Given the description of an element on the screen output the (x, y) to click on. 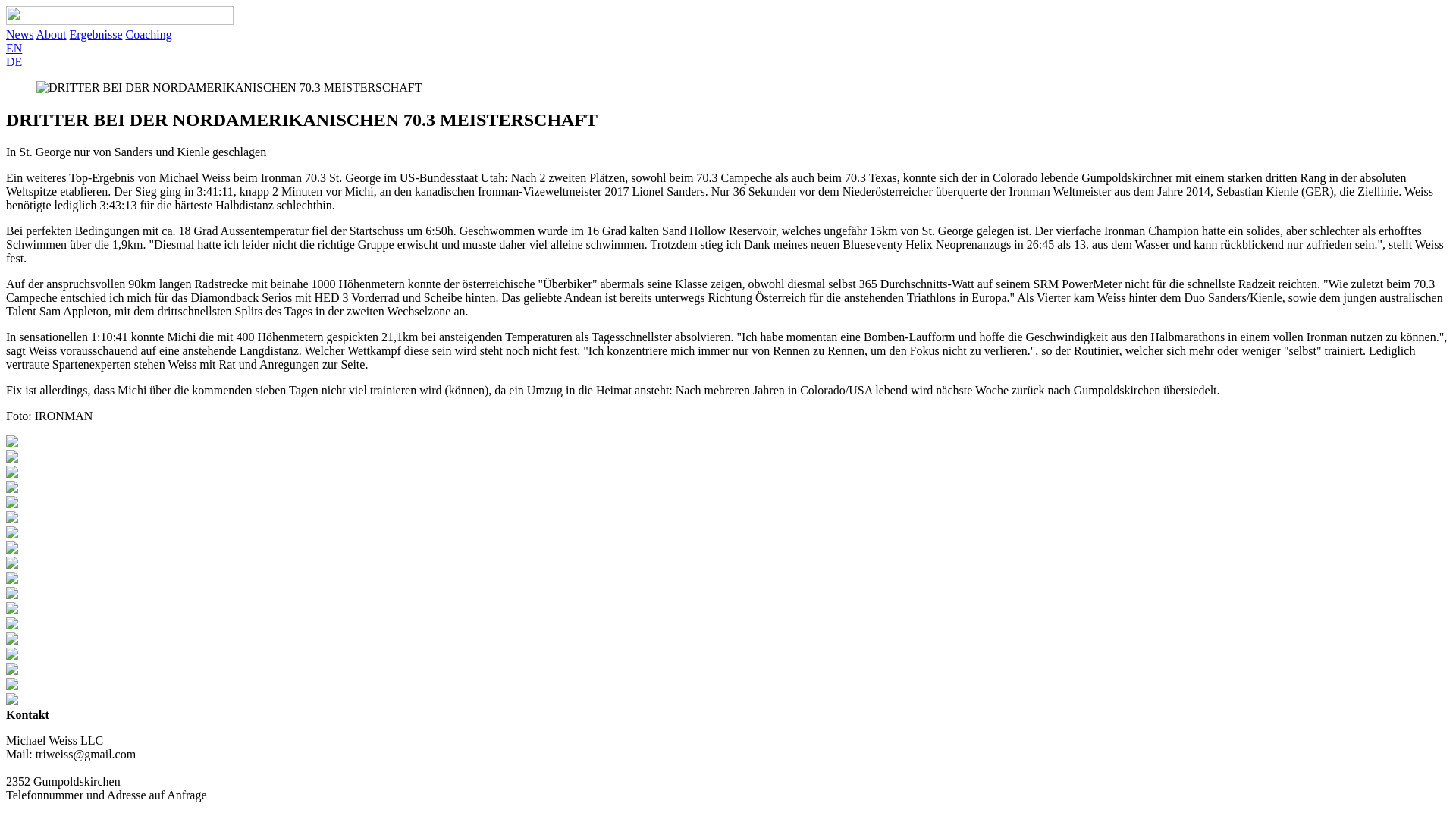
About Element type: text (51, 34)
News Element type: text (19, 34)
DE Element type: text (13, 61)
Ergebnisse Element type: text (95, 34)
EN Element type: text (13, 47)
Coaching Element type: text (148, 34)
